Given the description of an element on the screen output the (x, y) to click on. 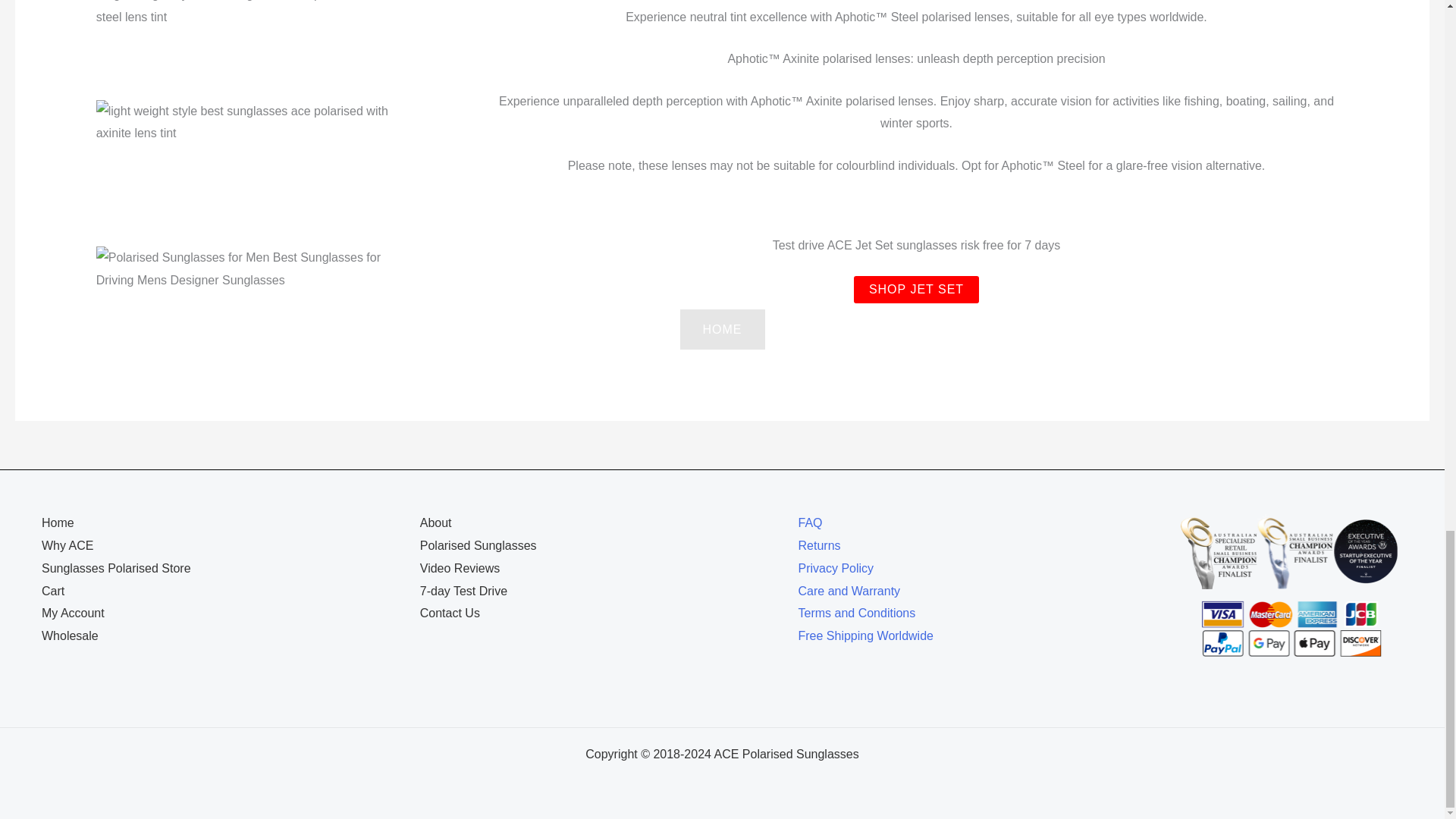
Home (58, 522)
SHOP JET SET (915, 289)
HOME (721, 329)
